Given the description of an element on the screen output the (x, y) to click on. 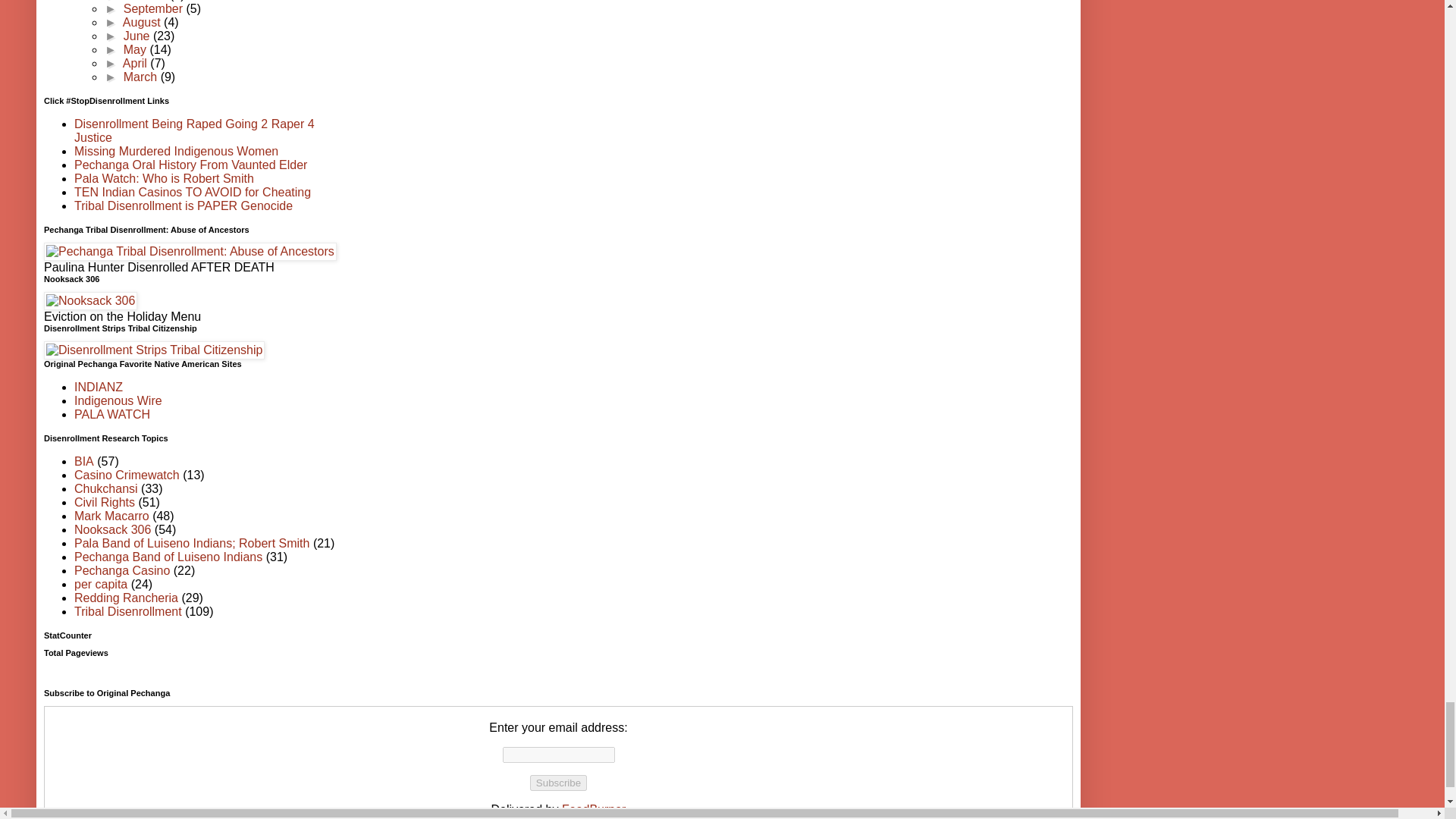
Subscribe (557, 782)
